Given the description of an element on the screen output the (x, y) to click on. 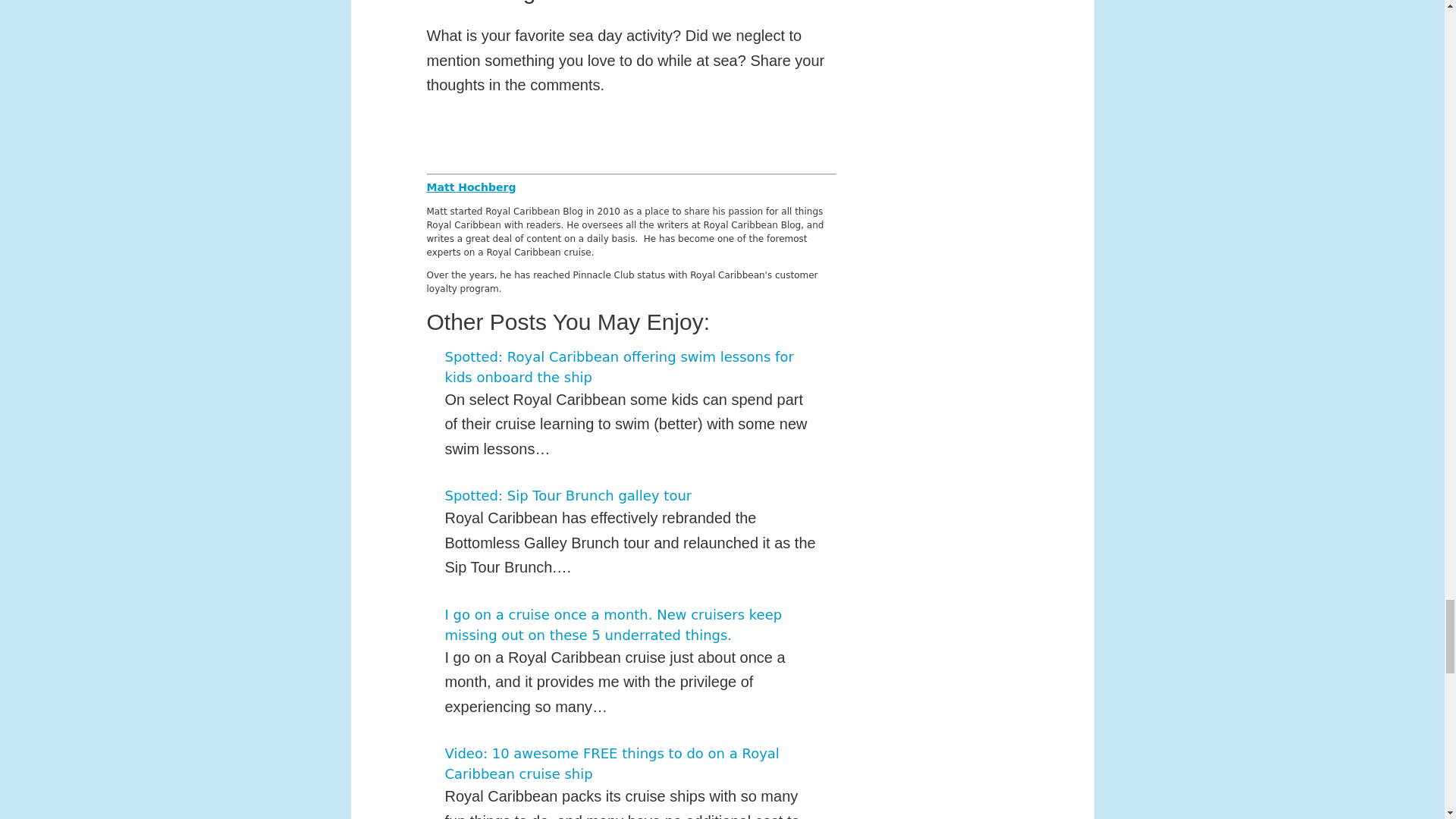
Spotted: Sip Tour Brunch galley tour (567, 495)
Matt Hochberg (470, 186)
